Given the description of an element on the screen output the (x, y) to click on. 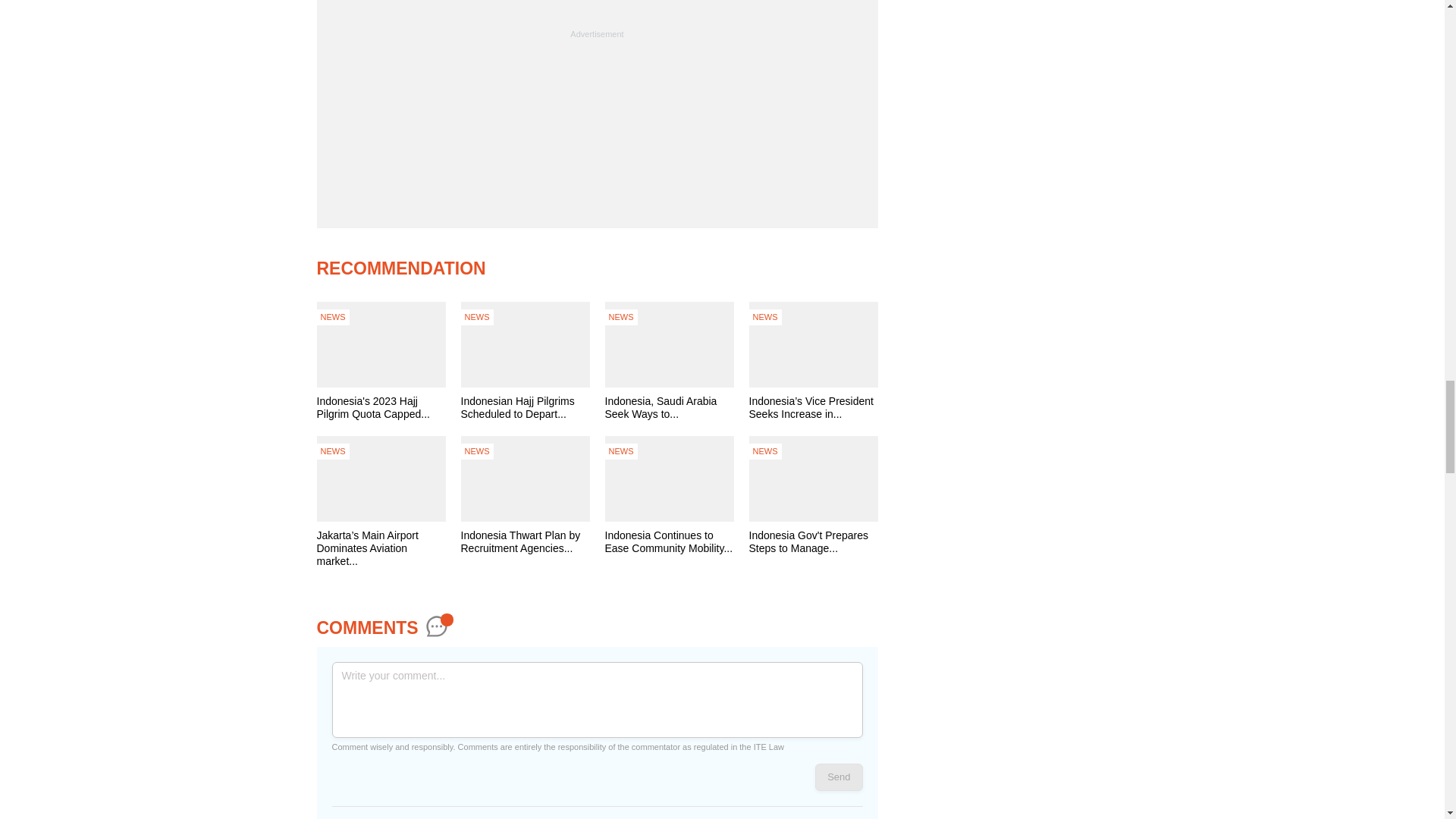
Indonesia, Saudi Arabia Seek Ways to Cut Hajj Waiting Time (669, 407)
Indonesia's 2023 Hajj Pilgrim Quota Capped at 221,000 (381, 407)
